Given the description of an element on the screen output the (x, y) to click on. 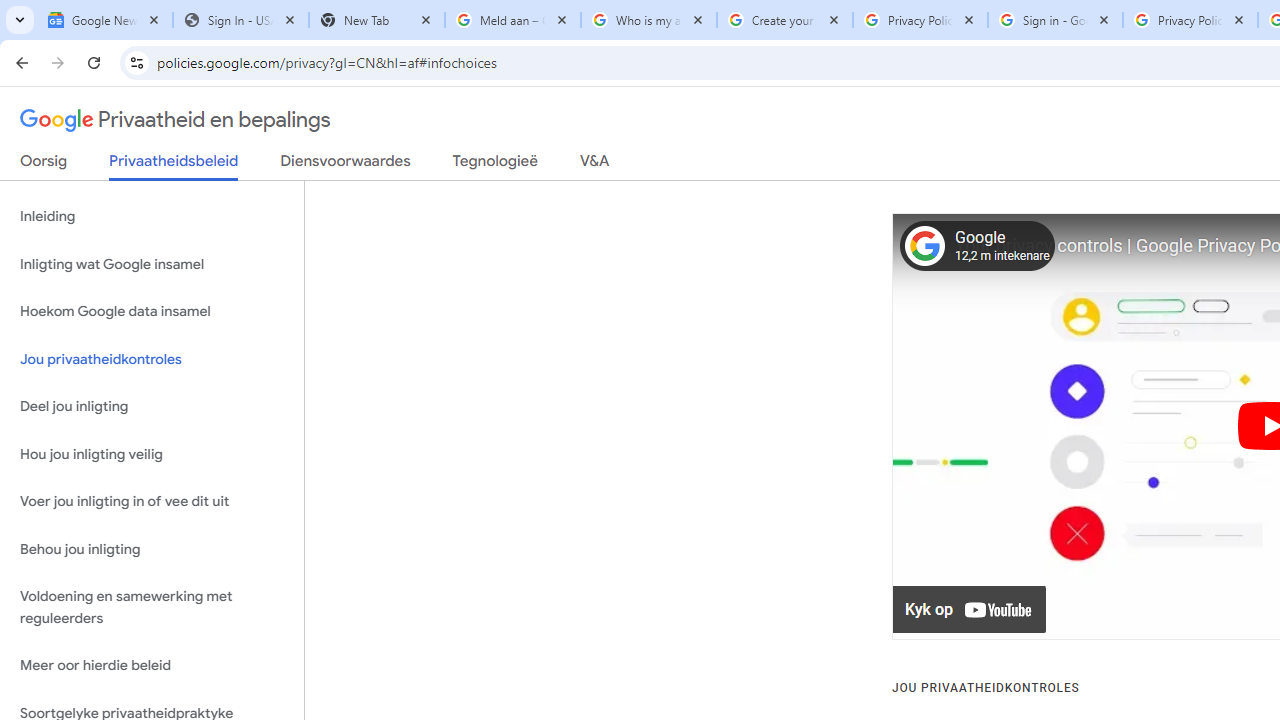
Privaatheid en bepalings (175, 120)
Inleiding (152, 216)
Jou privaatheidkontroles (152, 358)
Kyk op YouTube (970, 610)
Voer jou inligting in of vee dit uit (152, 502)
Fotobeeld van Google (924, 246)
Voldoening en samewerking met reguleerders (152, 607)
